Given the description of an element on the screen output the (x, y) to click on. 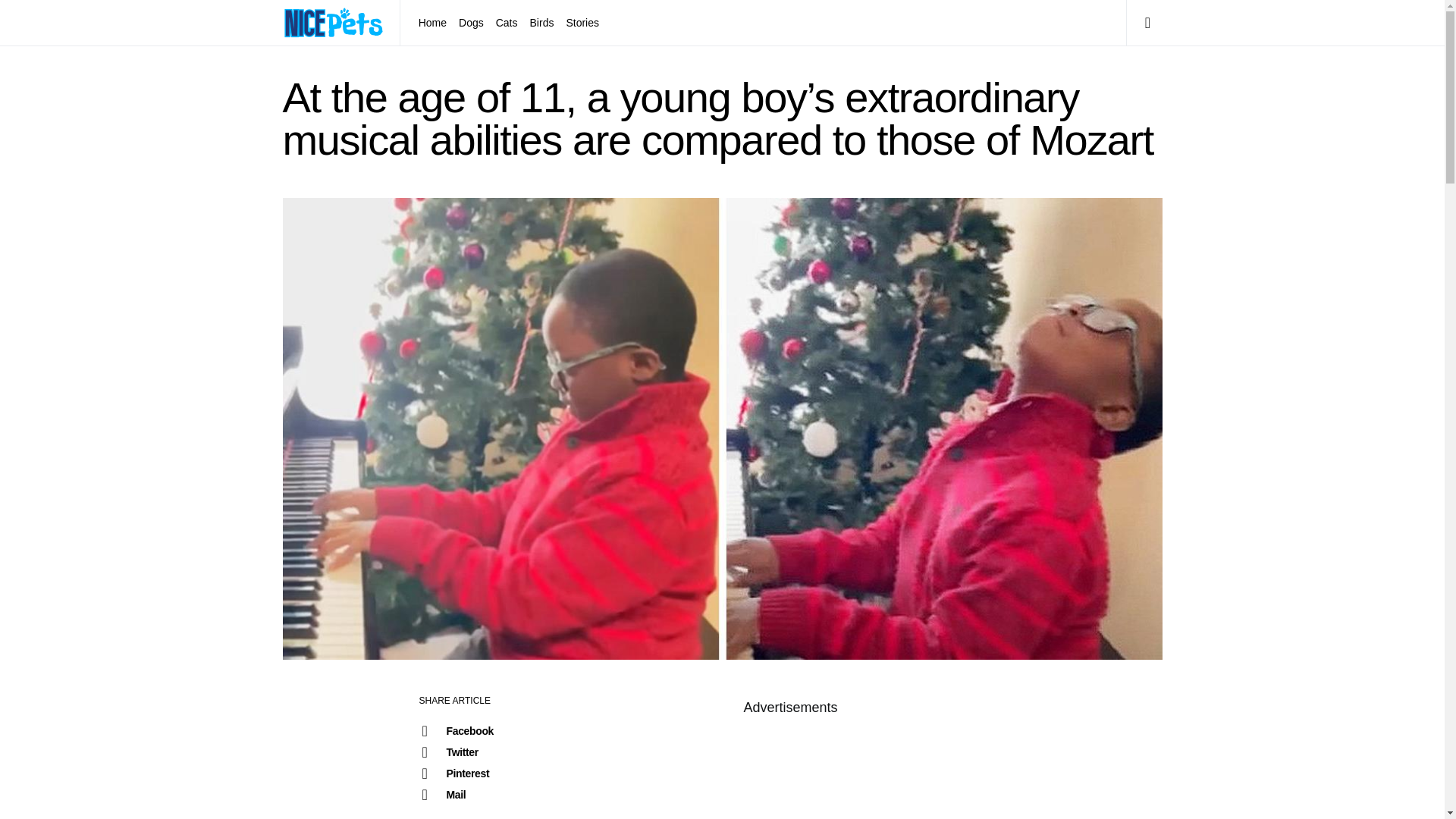
Birds (542, 22)
Stories (578, 22)
Dogs (470, 22)
Advertisement (789, 769)
Home (435, 22)
Pinterest (470, 772)
Facebook (470, 731)
Cats (506, 22)
Twitter (470, 752)
Mail (470, 794)
